Given the description of an element on the screen output the (x, y) to click on. 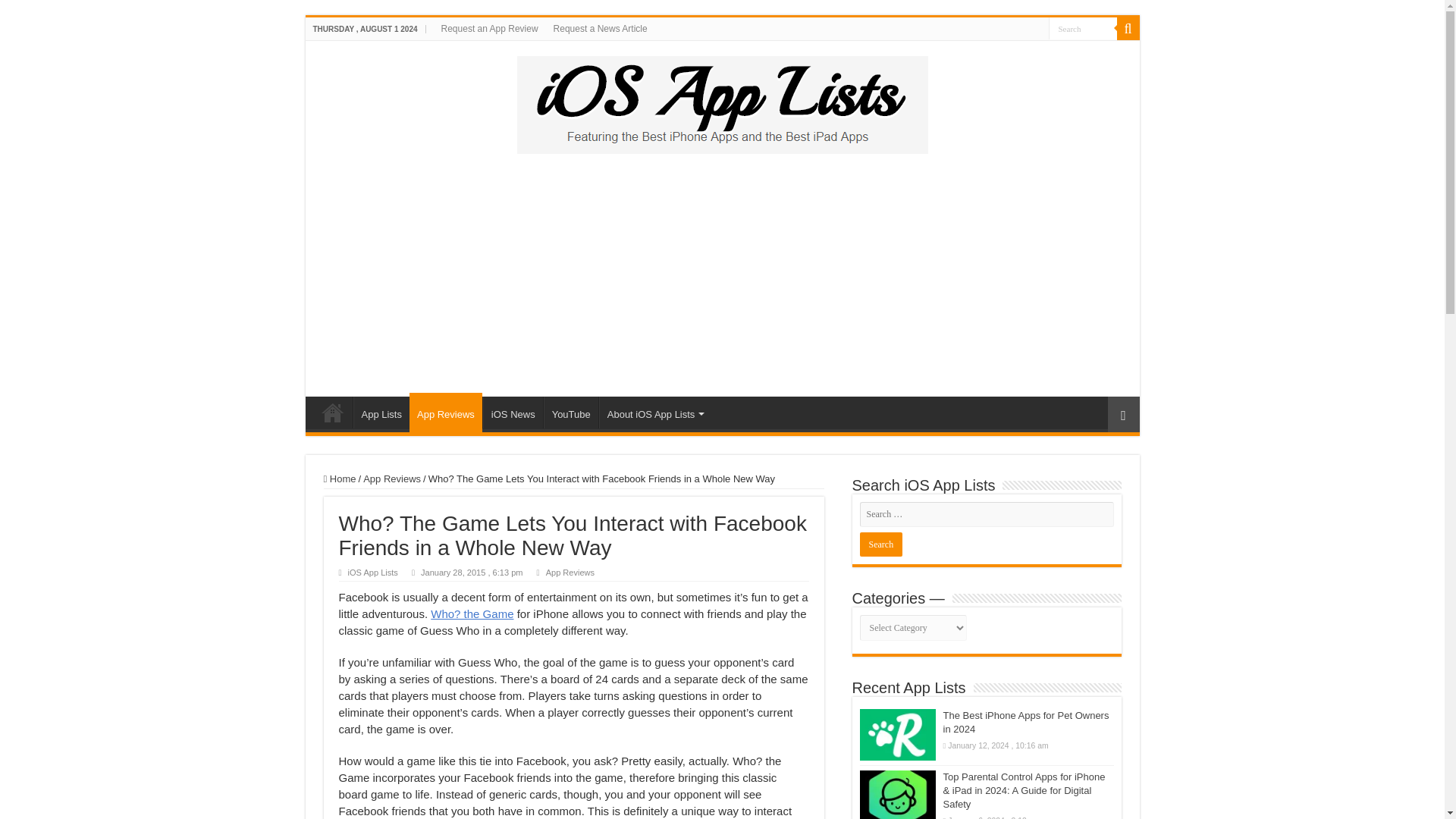
Search (1082, 28)
Search (1082, 28)
Request a News Article (600, 28)
App Lists (381, 412)
Request an App Review (489, 28)
App Reviews (391, 478)
Home (339, 478)
Search (1127, 28)
Home (332, 412)
App Reviews (445, 412)
